Given the description of an element on the screen output the (x, y) to click on. 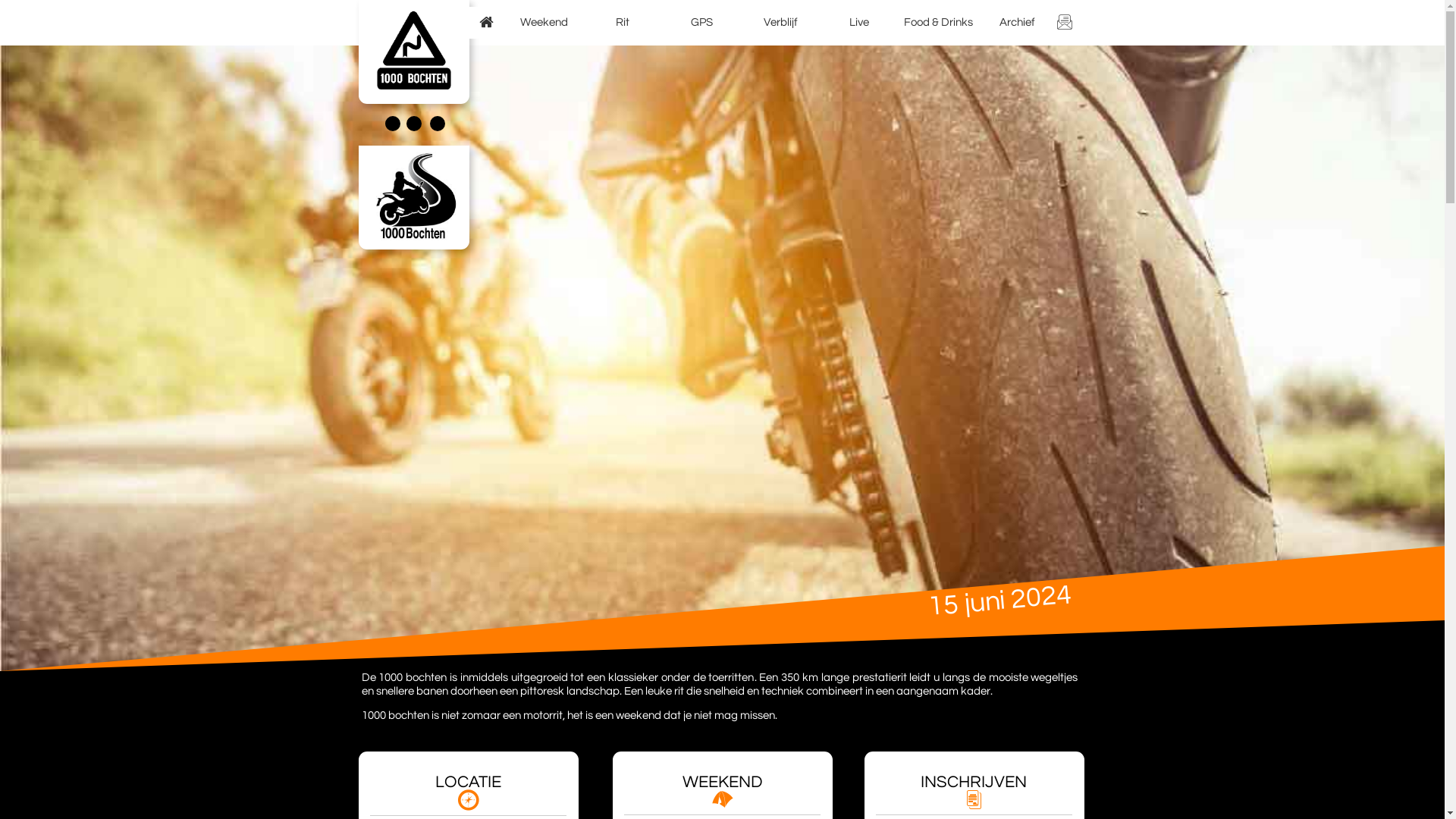
Verblijf Element type: text (780, 22)
Weekend Element type: text (543, 22)
Rit Element type: text (622, 22)
Archief Element type: text (1016, 22)
Live Element type: text (859, 22)
GPS Element type: text (701, 22)
Food & Drinks Element type: text (938, 22)
